Given the description of an element on the screen output the (x, y) to click on. 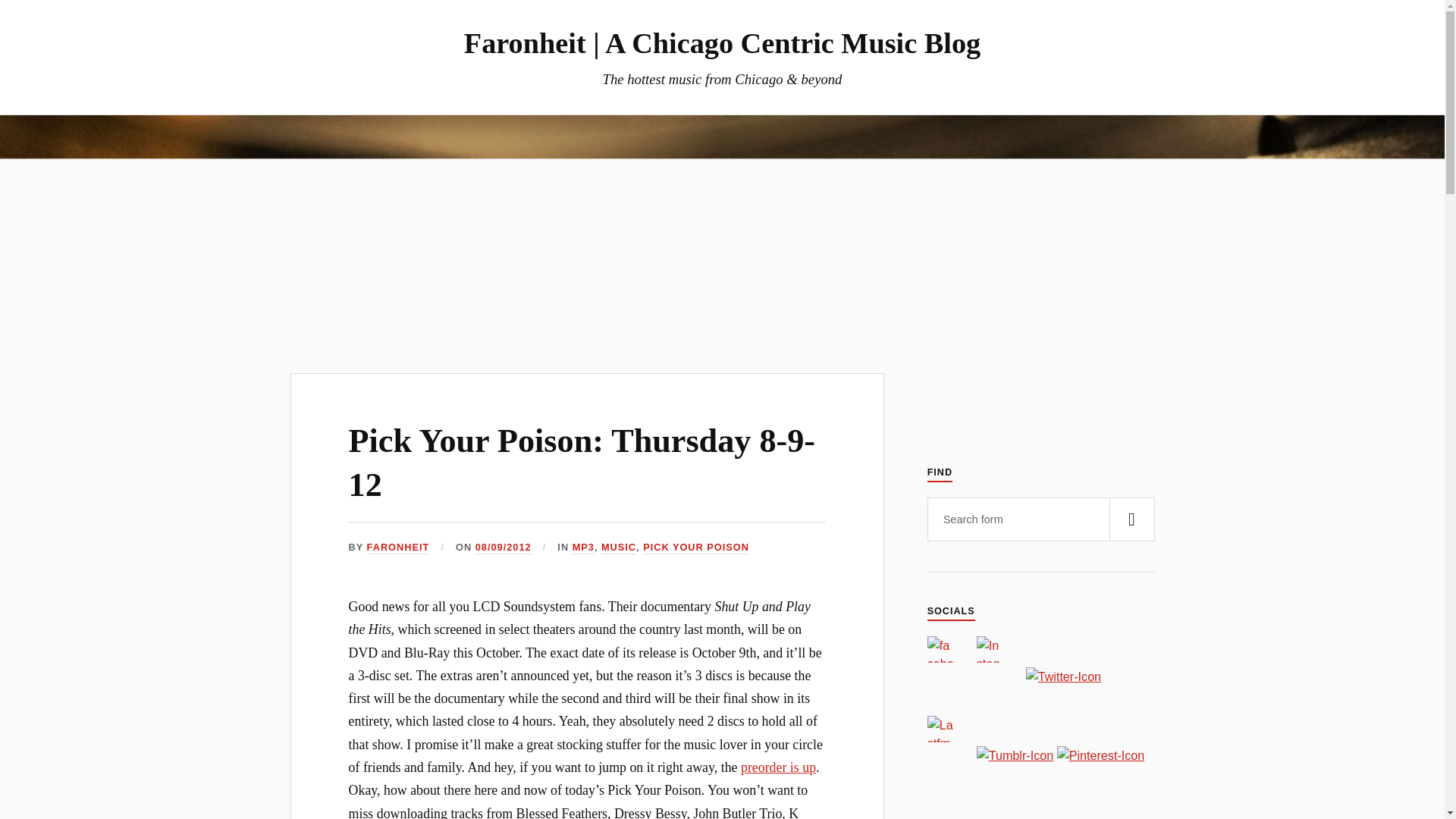
FARONHEIT (397, 547)
Pick Your Poison: Thursday 8-9-12 (582, 462)
MUSIC (618, 547)
PICK YOUR POISON (696, 547)
MP3 (583, 547)
Posts by Faronheit (397, 547)
preorder is up (778, 767)
